Given the description of an element on the screen output the (x, y) to click on. 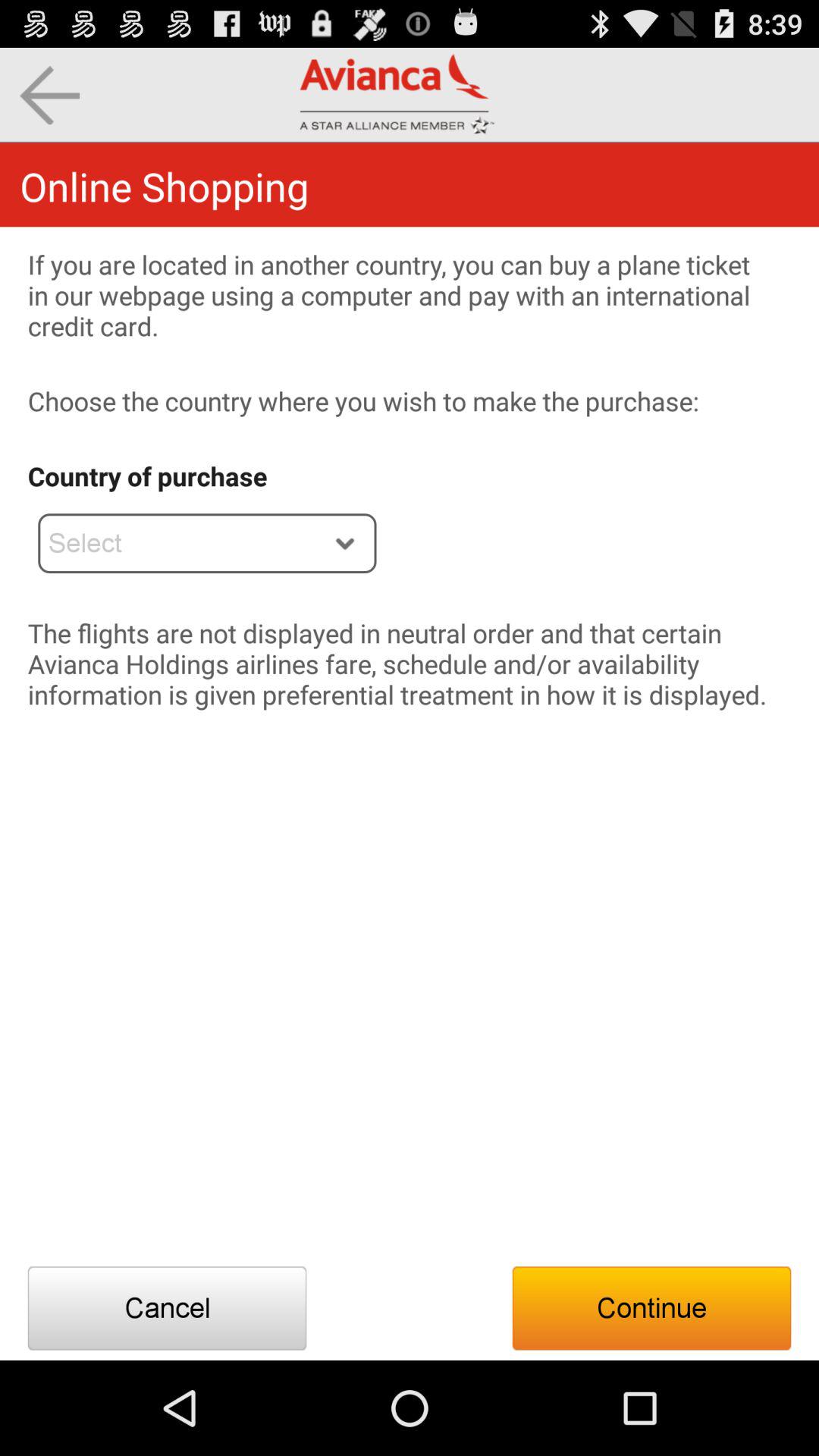
open the item above the flights are (207, 543)
